Given the description of an element on the screen output the (x, y) to click on. 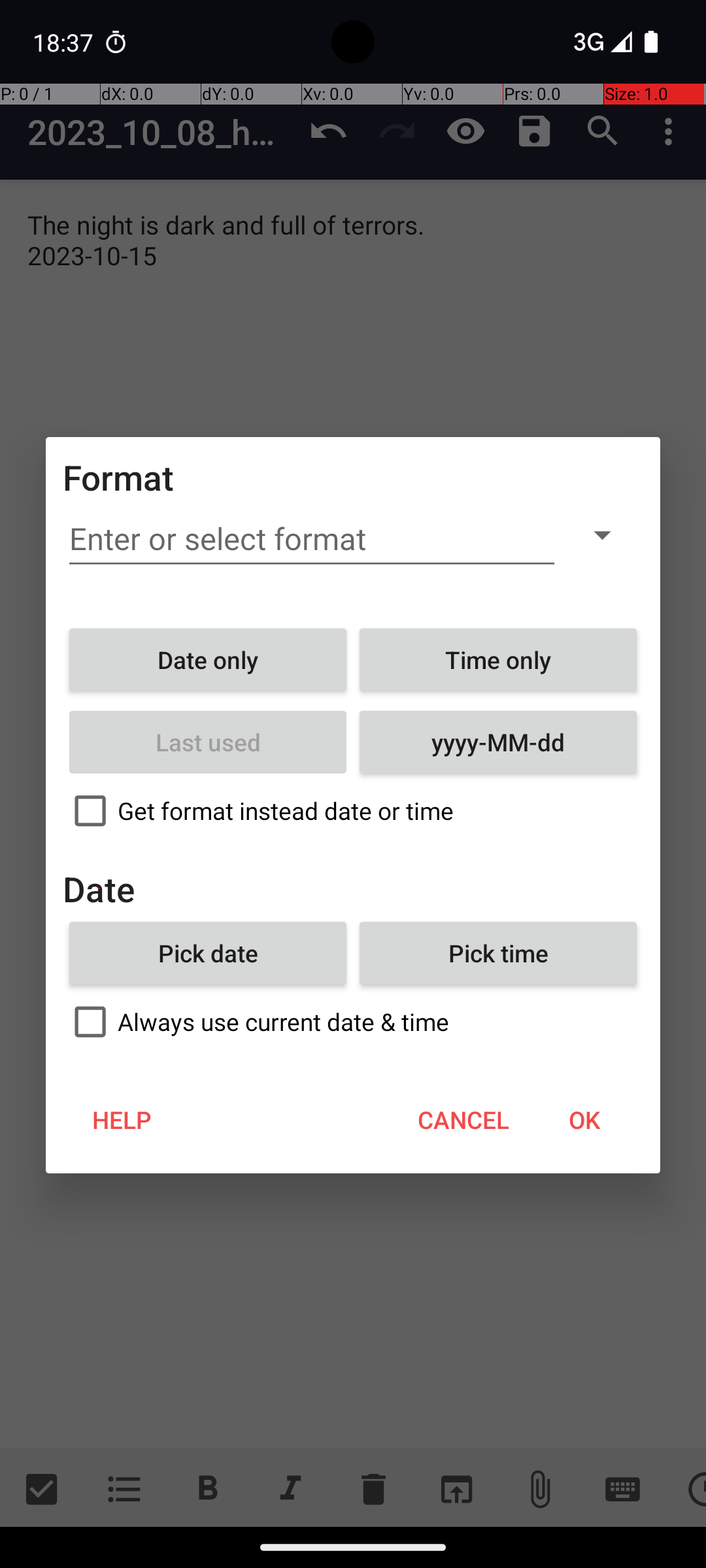
18:37 Element type: android.widget.TextView (64, 41)
